Given the description of an element on the screen output the (x, y) to click on. 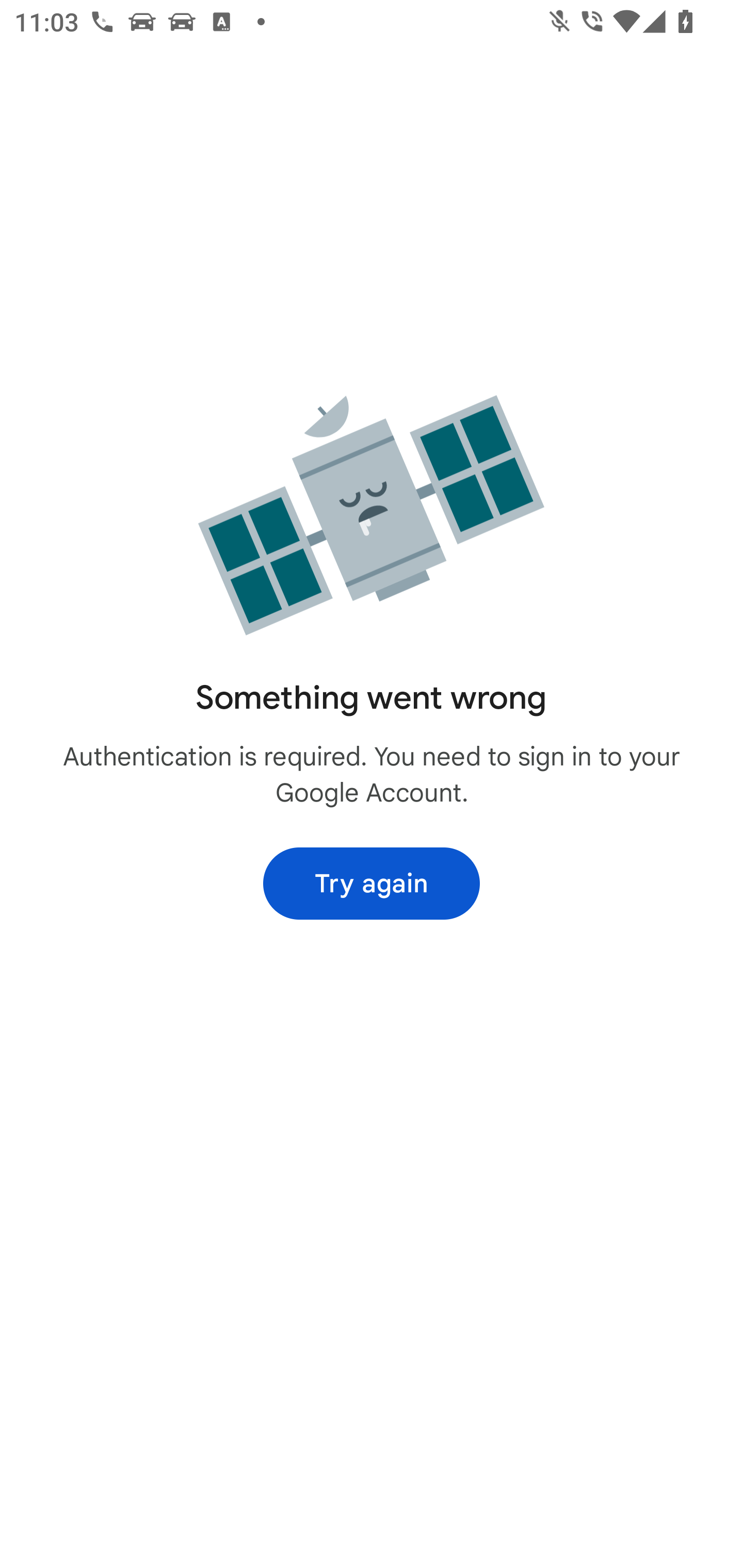
Try again (371, 883)
